Given the description of an element on the screen output the (x, y) to click on. 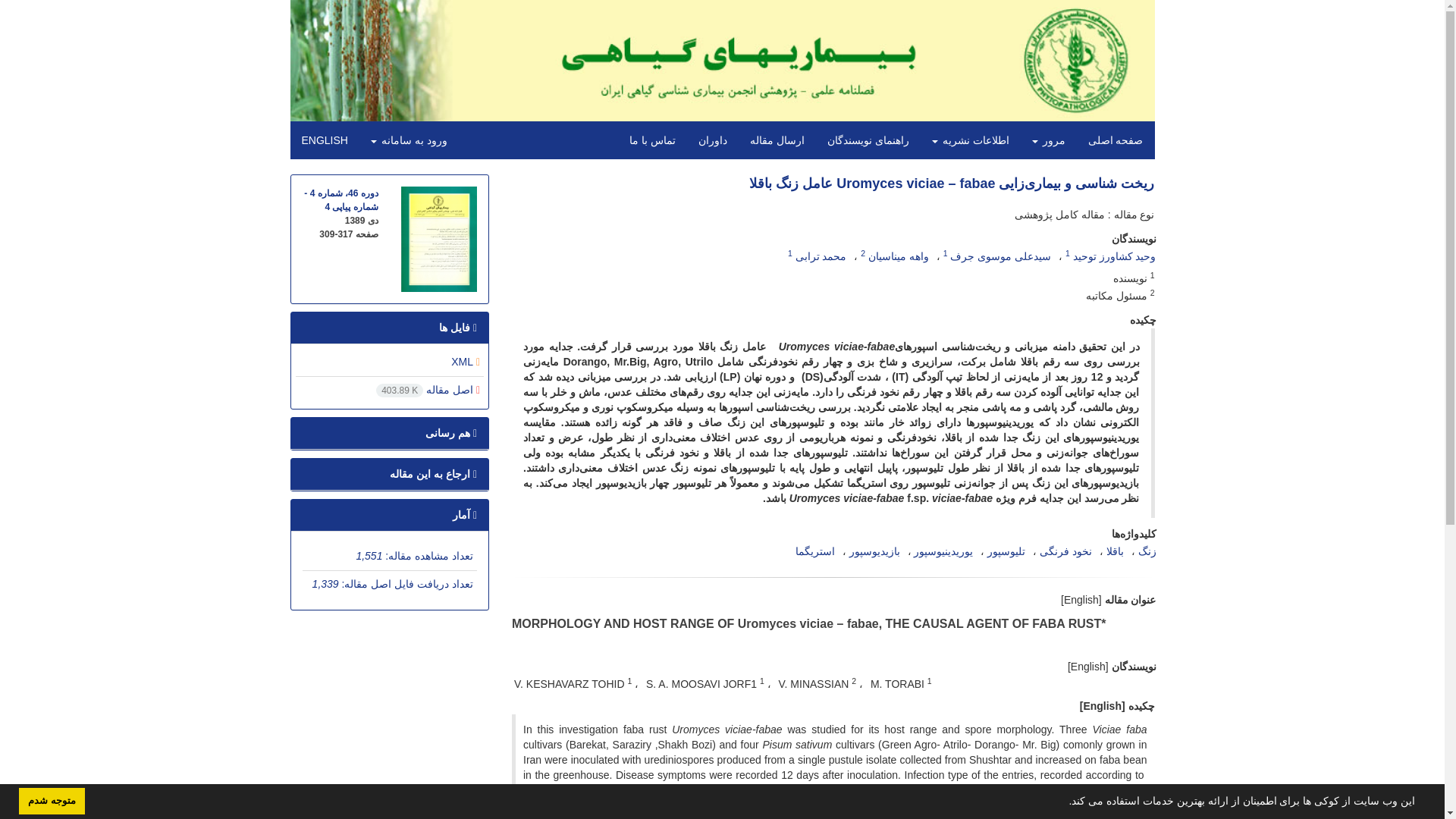
ENGLISH (323, 139)
